Given the description of an element on the screen output the (x, y) to click on. 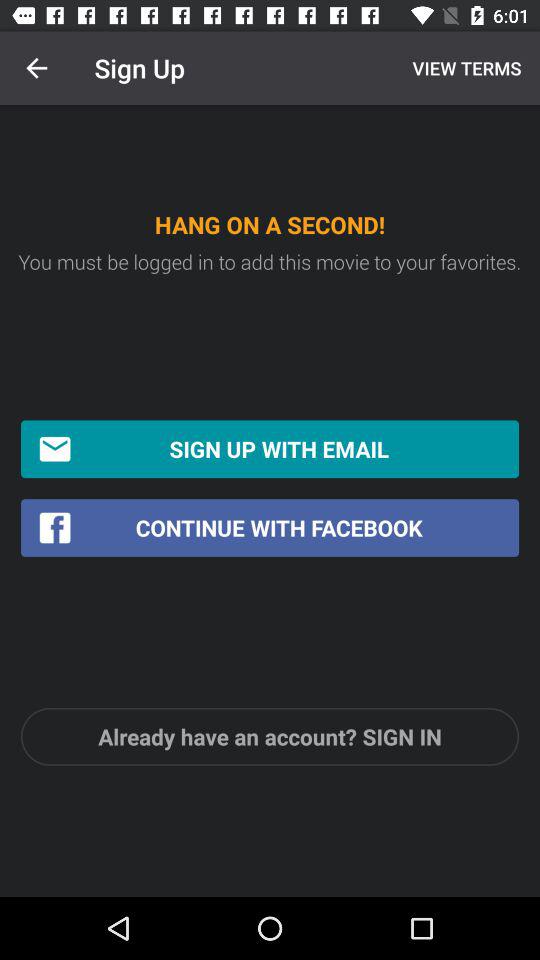
select the item to the right of the sign up icon (464, 67)
